Given the description of an element on the screen output the (x, y) to click on. 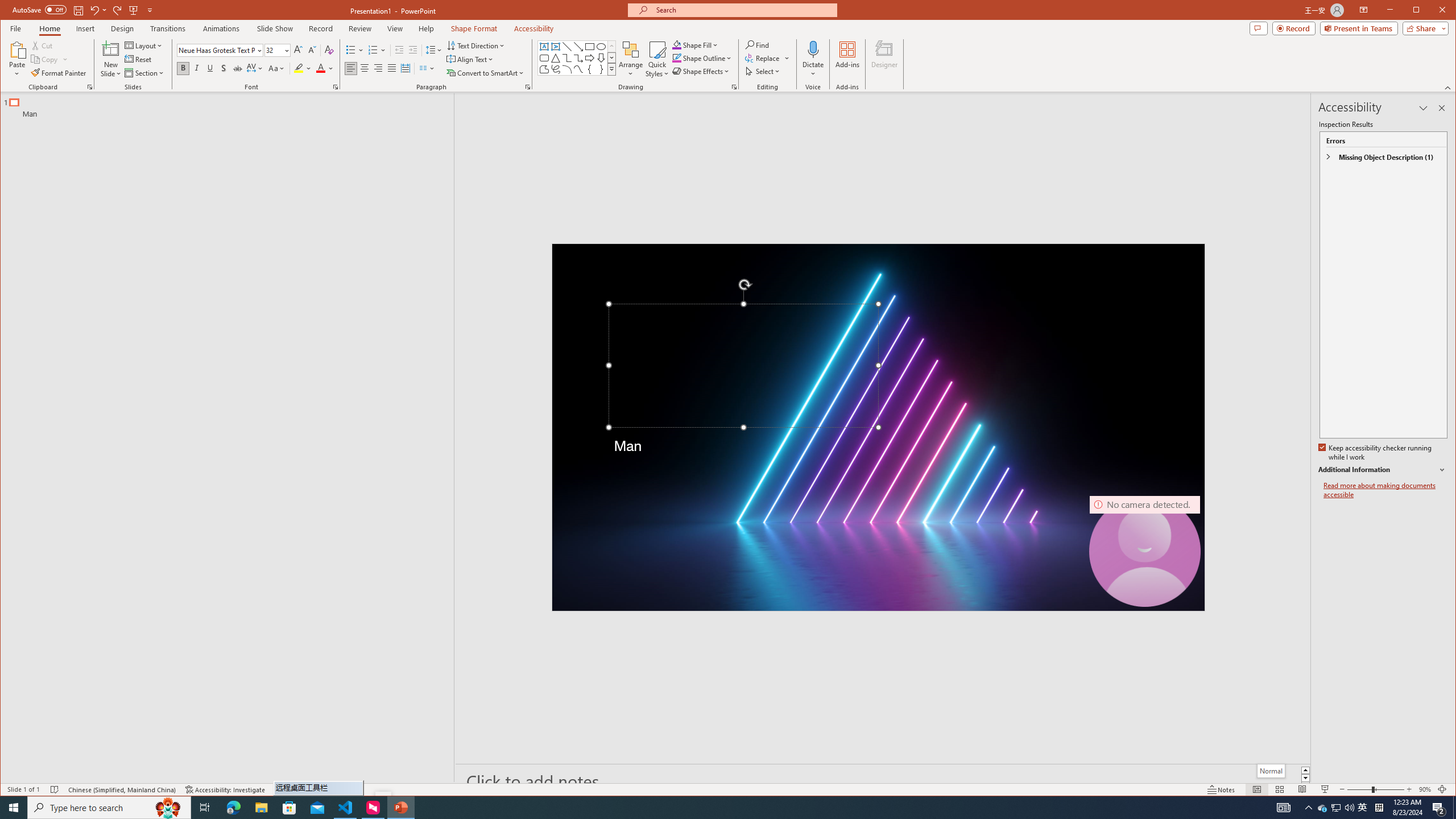
Zoom 90% (1424, 789)
Distributed (405, 68)
Microsoft Edge (233, 807)
Convert to SmartArt (485, 72)
Bold (182, 68)
Title TextBox (742, 365)
Italic (196, 68)
Maximize (1432, 11)
Strikethrough (237, 68)
Rectangle (589, 46)
